Given the description of an element on the screen output the (x, y) to click on. 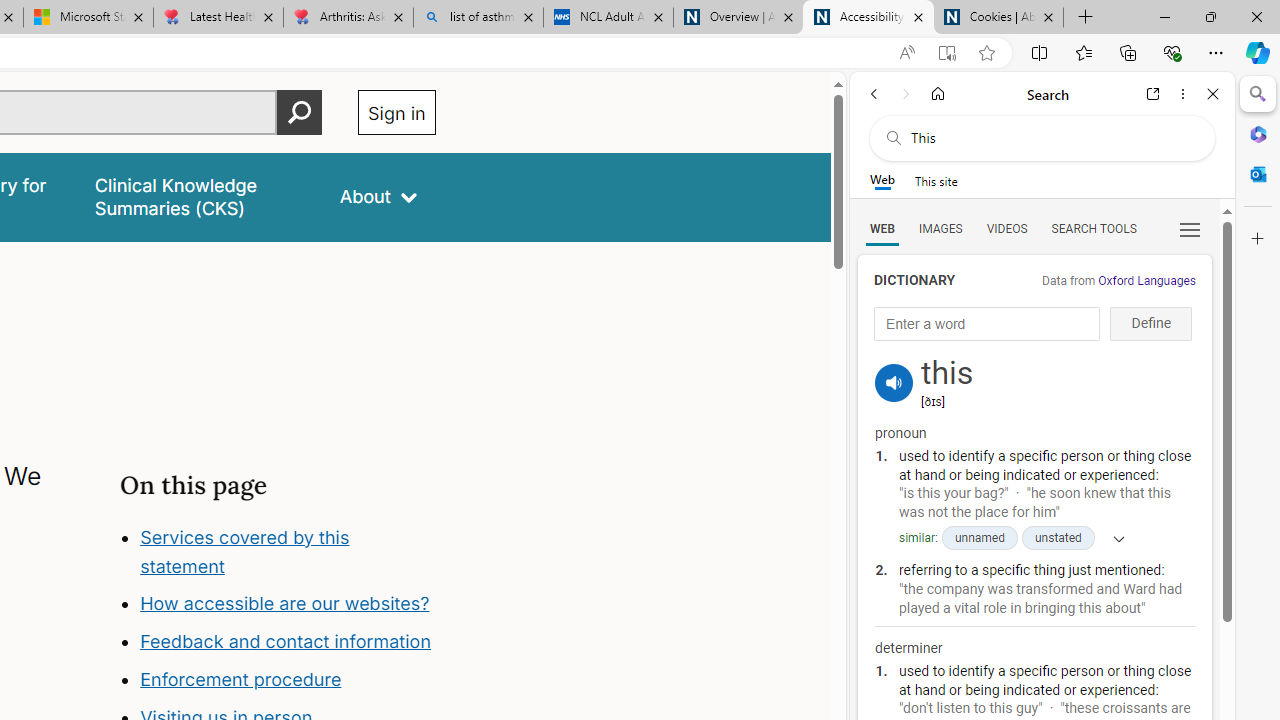
Feedback and contact information (287, 642)
Feedback and contact information (285, 641)
Search Filter, Search Tools (1093, 228)
Perform search (299, 112)
unstated (1057, 538)
